Given the description of an element on the screen output the (x, y) to click on. 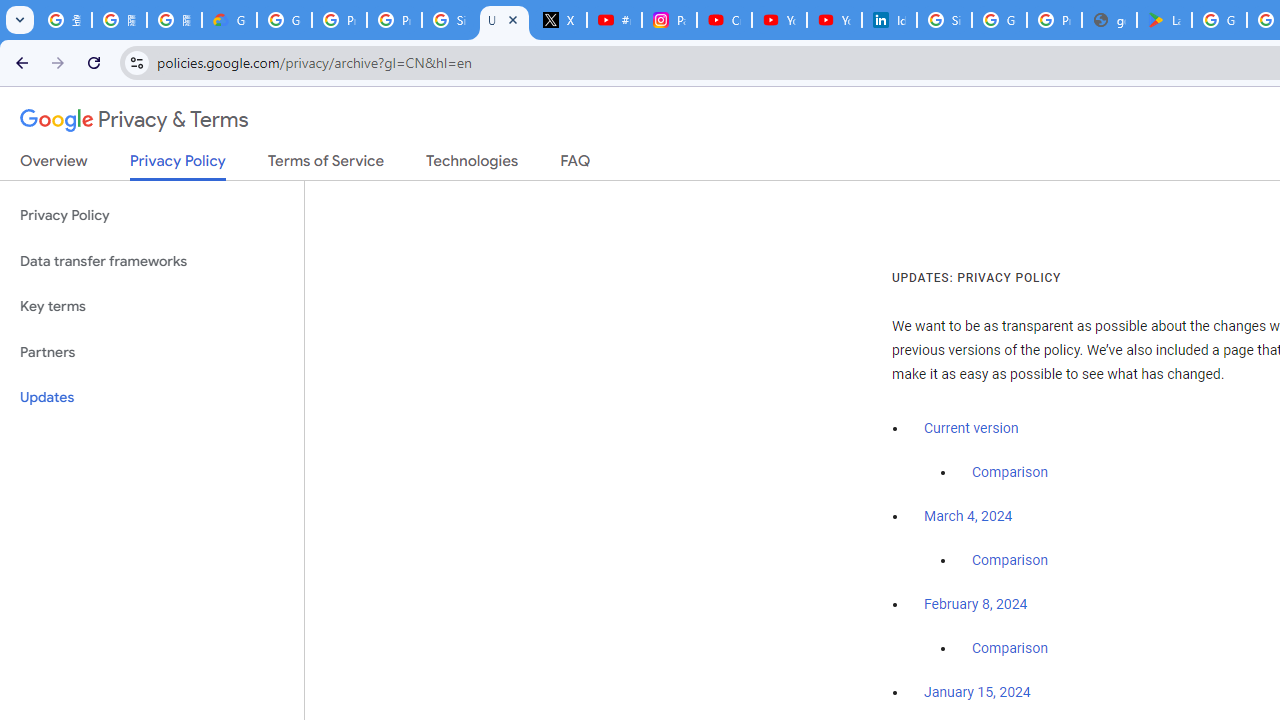
March 4, 2024 (968, 517)
Sign in - Google Accounts (943, 20)
#nbabasketballhighlights - YouTube (614, 20)
Sign in - Google Accounts (449, 20)
